Given the description of an element on the screen output the (x, y) to click on. 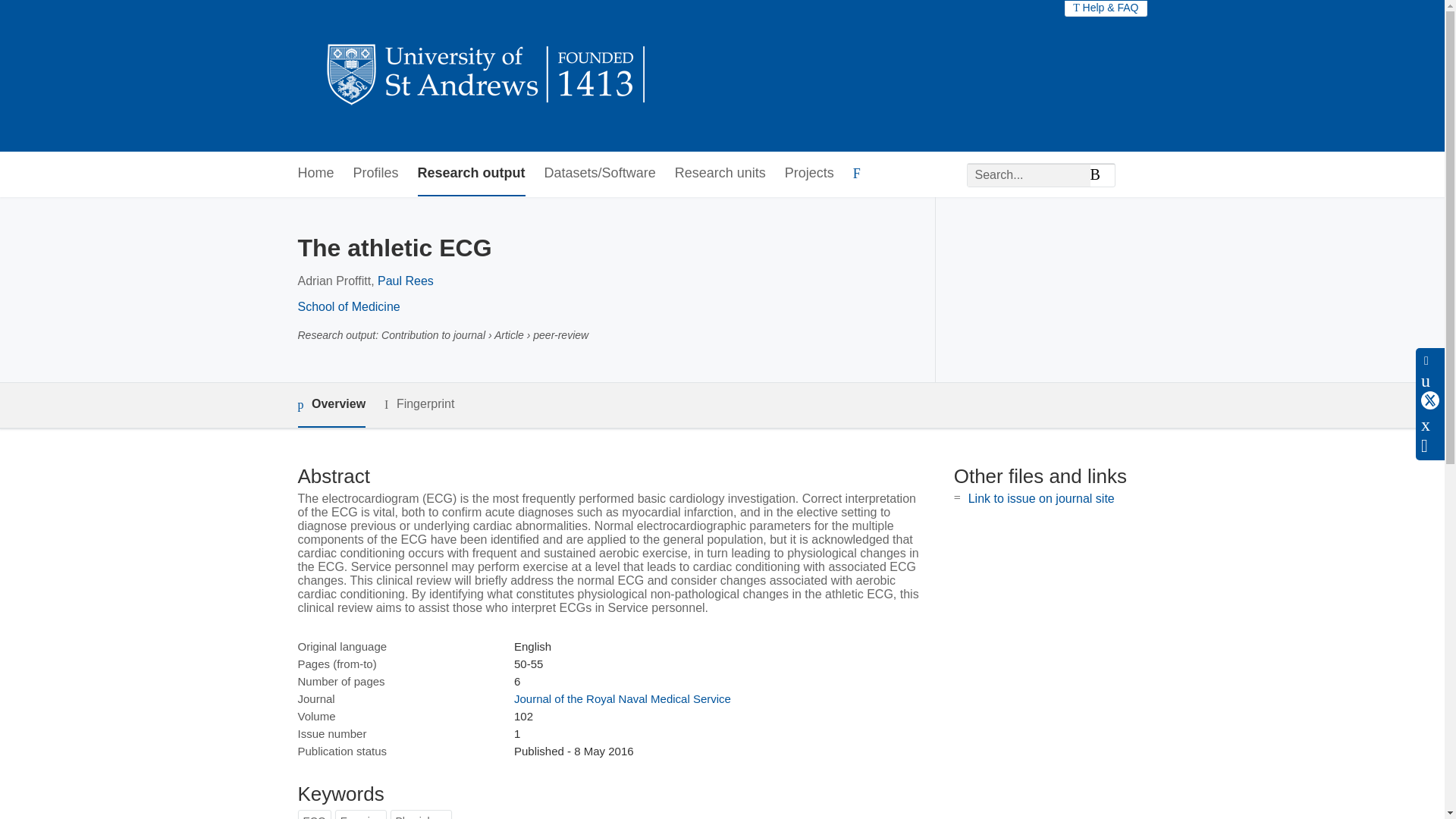
Overview (331, 405)
Research output (471, 173)
Profiles (375, 173)
Research units (720, 173)
University of St Andrews Research Portal Home (487, 75)
Paul Rees (405, 280)
Fingerprint (419, 404)
School of Medicine (347, 306)
Journal of the Royal Naval Medical Service (621, 698)
